Given the description of an element on the screen output the (x, y) to click on. 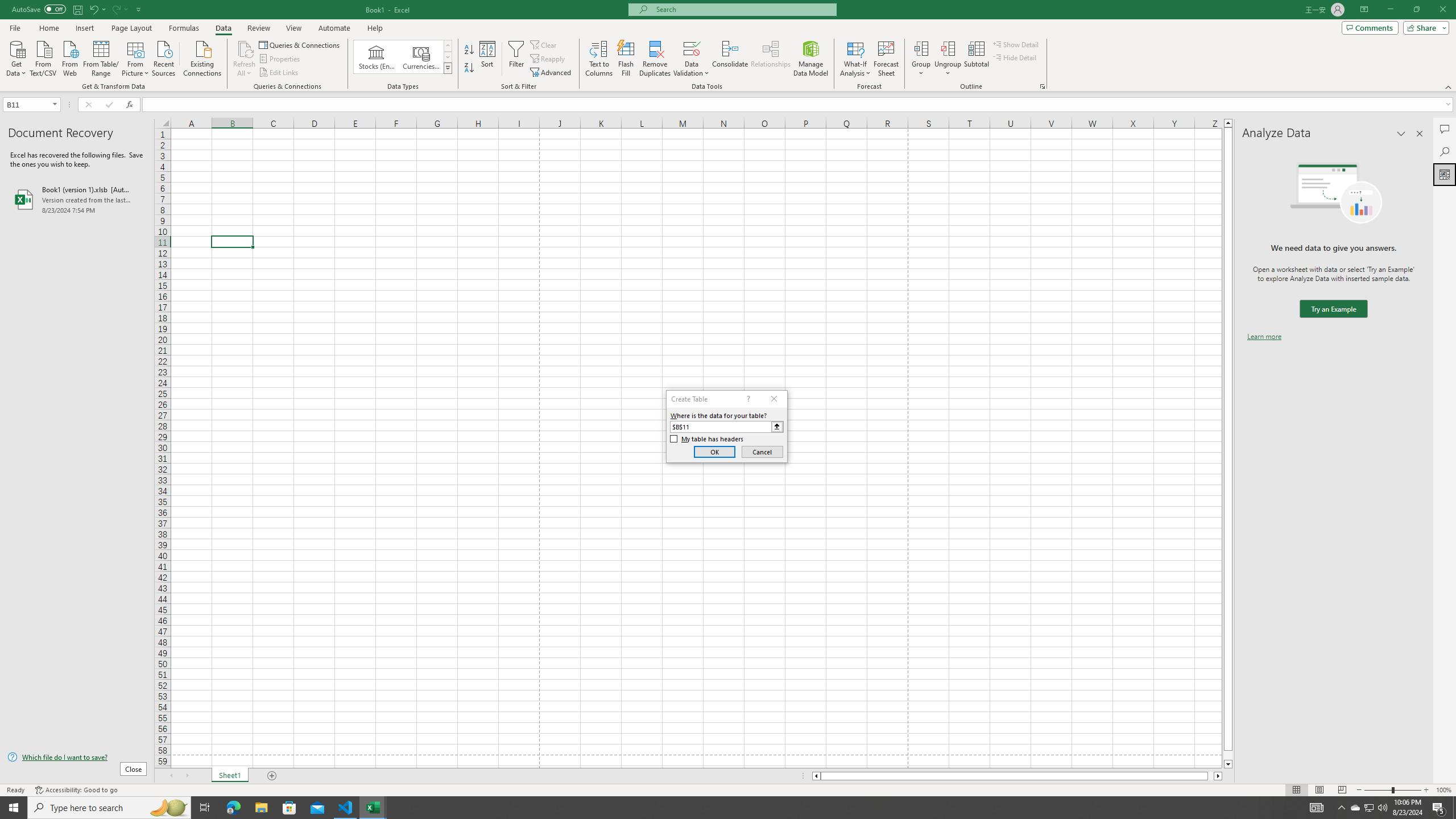
Consolidate... (729, 58)
